Given the description of an element on the screen output the (x, y) to click on. 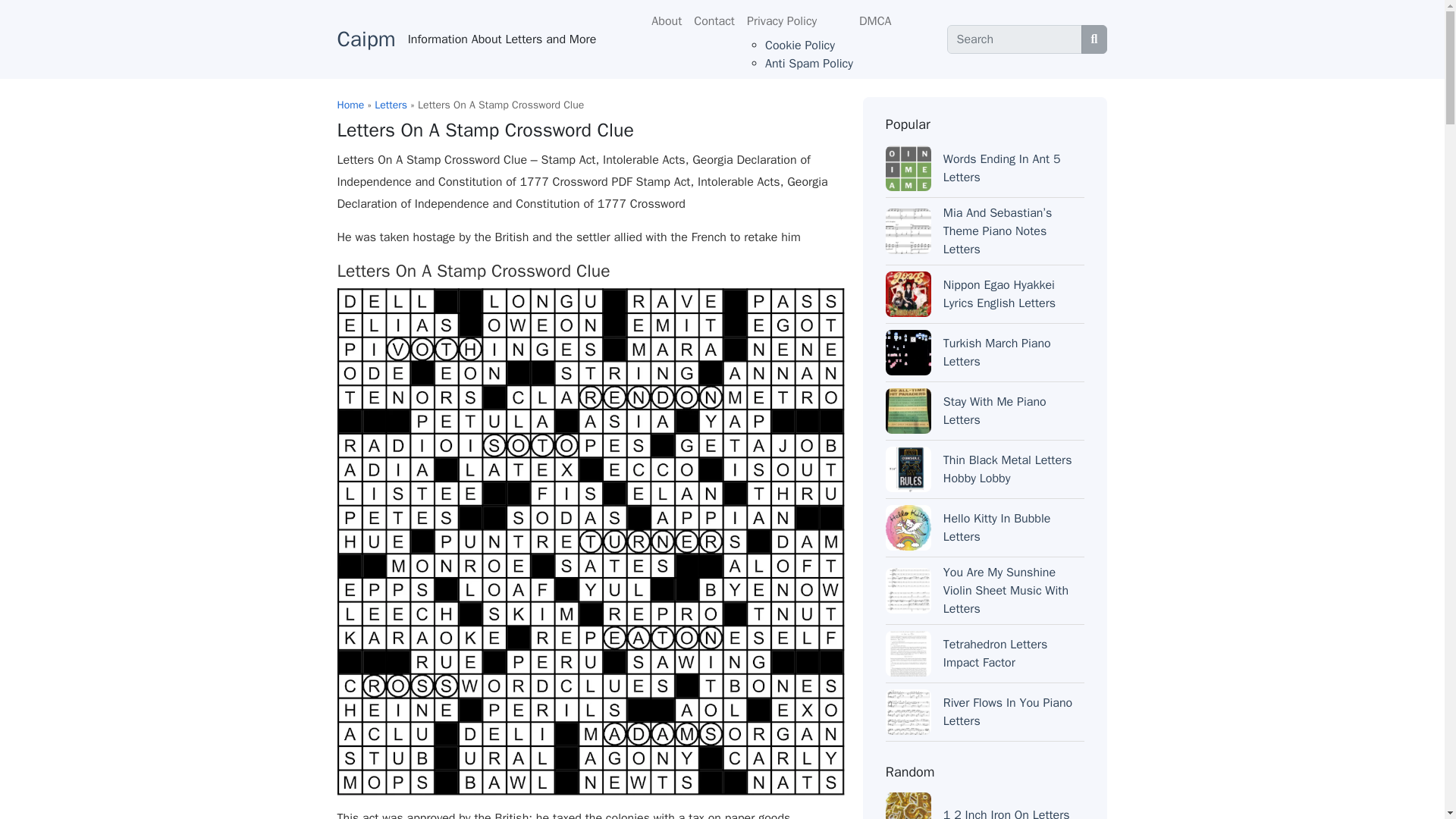
Privacy Policy (797, 20)
Privacy Policy (797, 20)
DMCA (875, 20)
Search (1014, 39)
DMCA (875, 20)
Caipm (365, 39)
Anti Spam Policy (809, 63)
Turkish March Piano Letters (997, 352)
Caipm (365, 39)
Letters (390, 104)
Cookie Policy (799, 45)
Contact (714, 20)
About (666, 20)
Contact (714, 20)
